Given the description of an element on the screen output the (x, y) to click on. 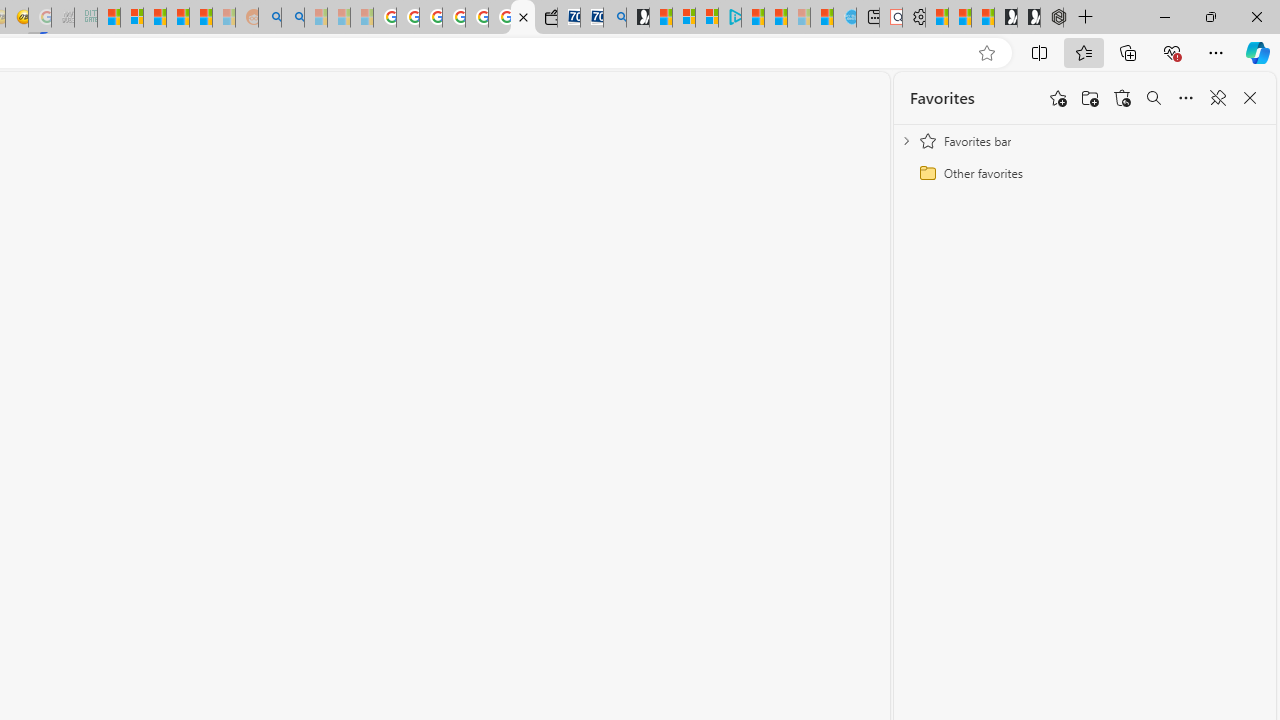
Add this page to favorites (1058, 98)
Cheap Car Rentals - Save70.com (591, 17)
Wallet (545, 17)
Home | Sky Blue Bikes - Sky Blue Bikes (845, 17)
DITOGAMES AG Imprint - Sleeping (86, 17)
Close favorites (1250, 98)
